Given the description of an element on the screen output the (x, y) to click on. 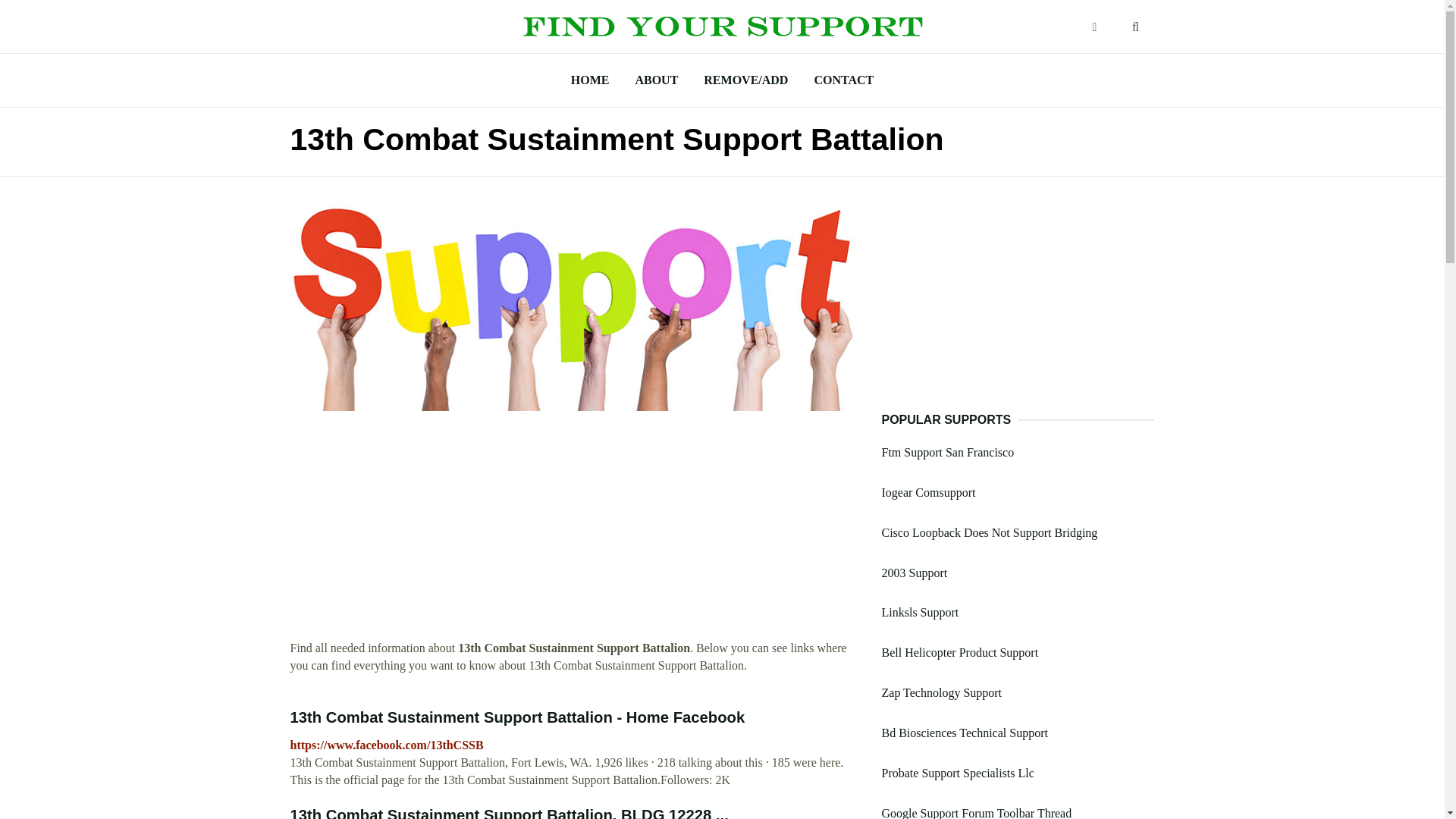
Zap Technology Support (940, 692)
CONTACT (843, 80)
Cisco Loopback Does Not Support Bridging (988, 532)
13th Combat Sustainment Support Battalion, BLDG 12228 ... (508, 812)
ABOUT (655, 80)
13th Combat Sustainment Support Battalion - Home Facebook (516, 717)
Advertisement (574, 533)
Iogear Comsupport (927, 492)
Linksls Support (919, 612)
Bell Helicopter Product Support (959, 652)
